Given the description of an element on the screen output the (x, y) to click on. 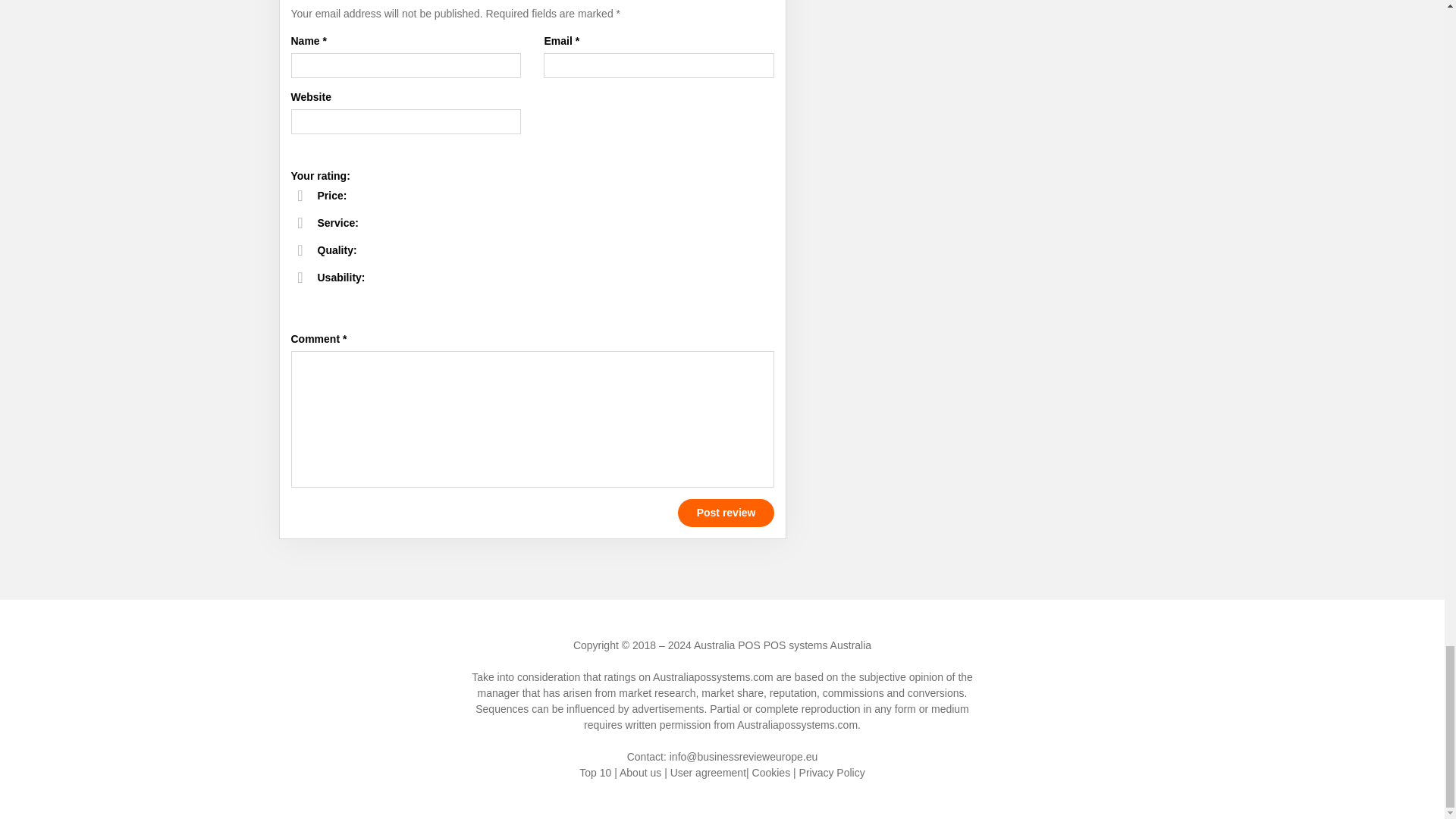
Post review (726, 512)
Post review (726, 512)
